Given the description of an element on the screen output the (x, y) to click on. 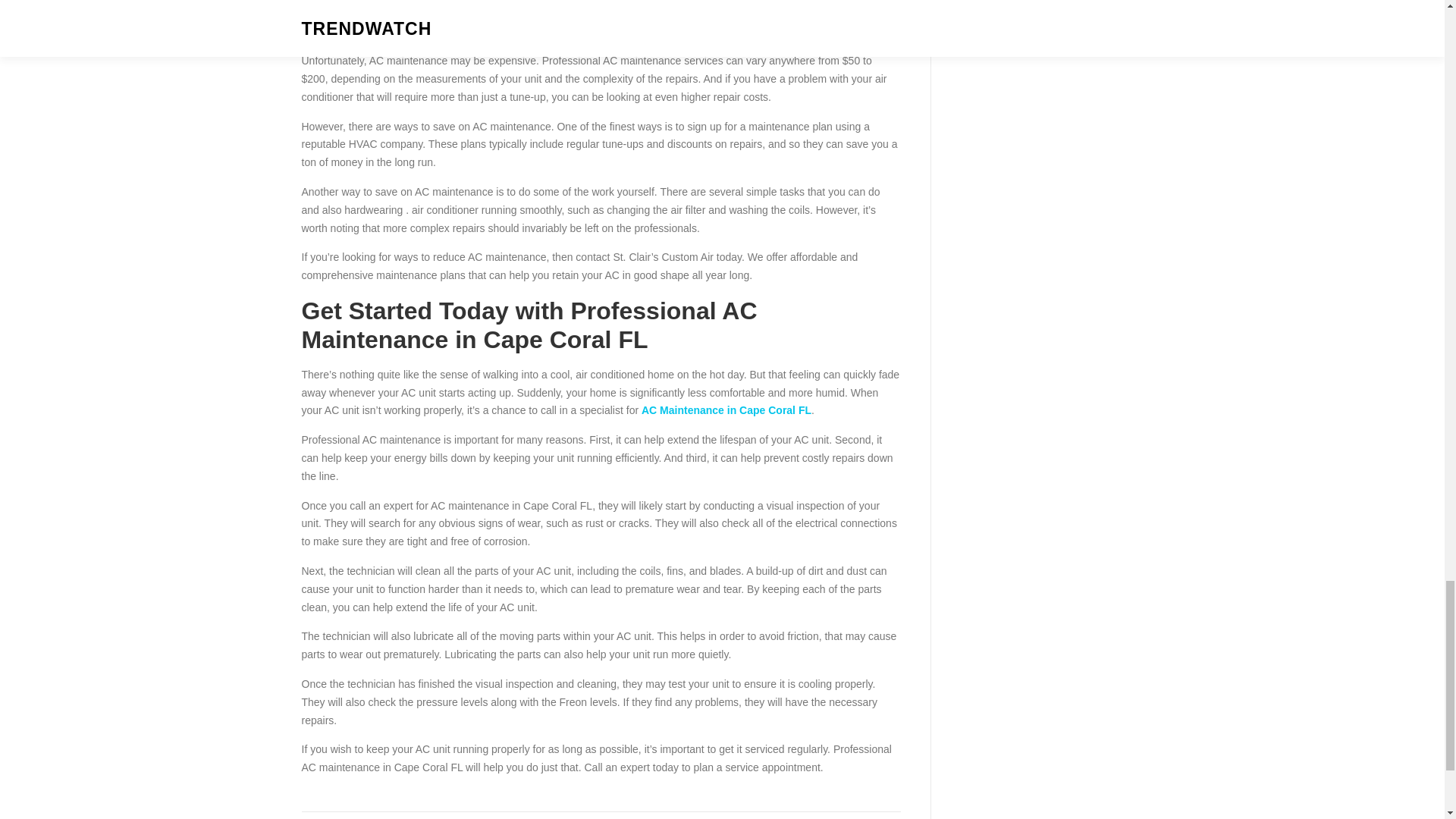
AC Maintenance in Cape Coral FL (726, 410)
